Given the description of an element on the screen output the (x, y) to click on. 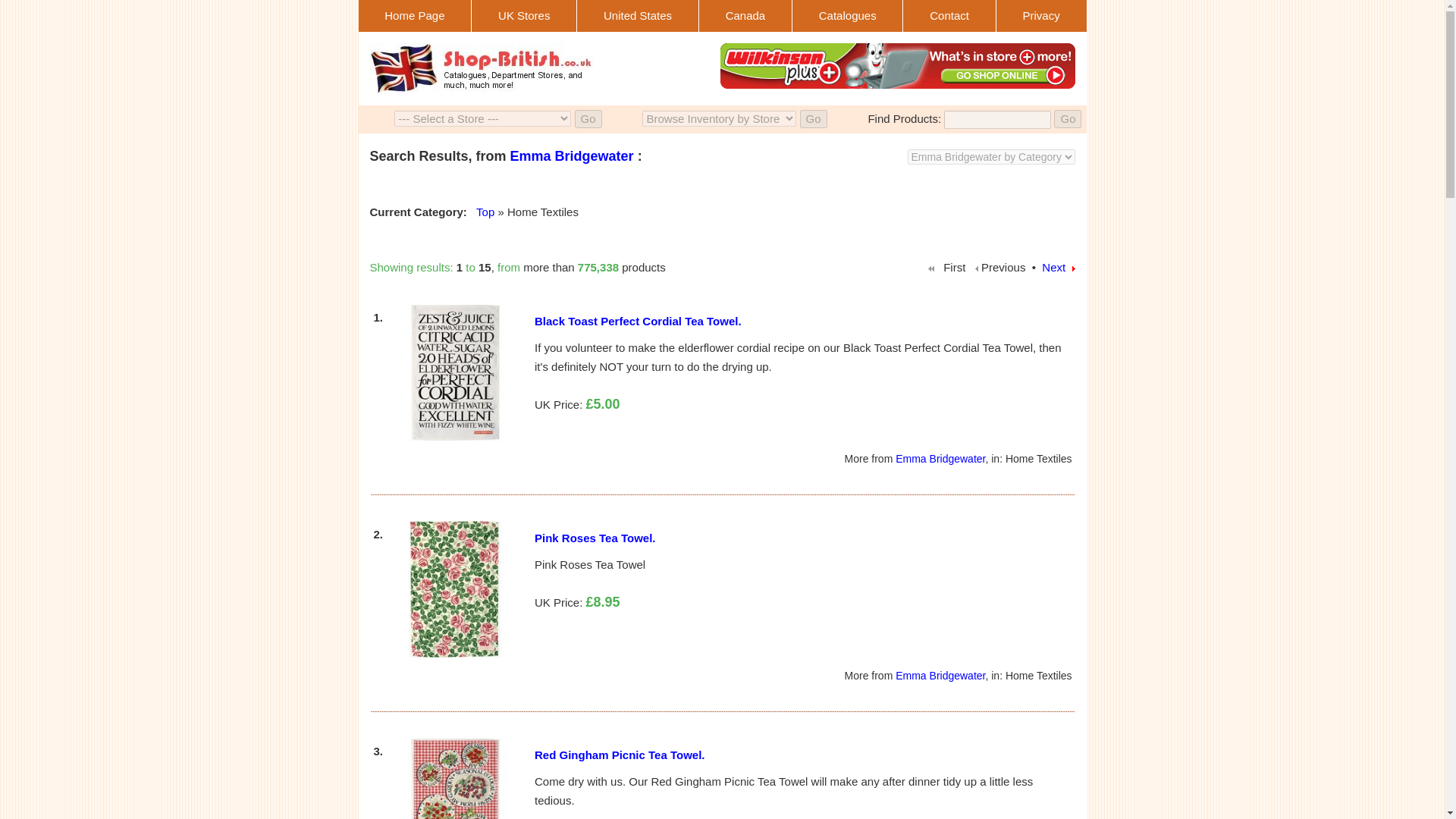
Black Toast Perfect Cordial Tea Towel at Emma Bridgewater (454, 371)
UK Stores (523, 15)
Go (813, 118)
Canadian Stores (745, 15)
UK Stores (523, 15)
Emma Bridgewater (940, 675)
Product Search (719, 119)
Go (813, 118)
Emma Bridgewater (572, 155)
Red Gingham Picnic Tea Towel. (619, 754)
